Given the description of an element on the screen output the (x, y) to click on. 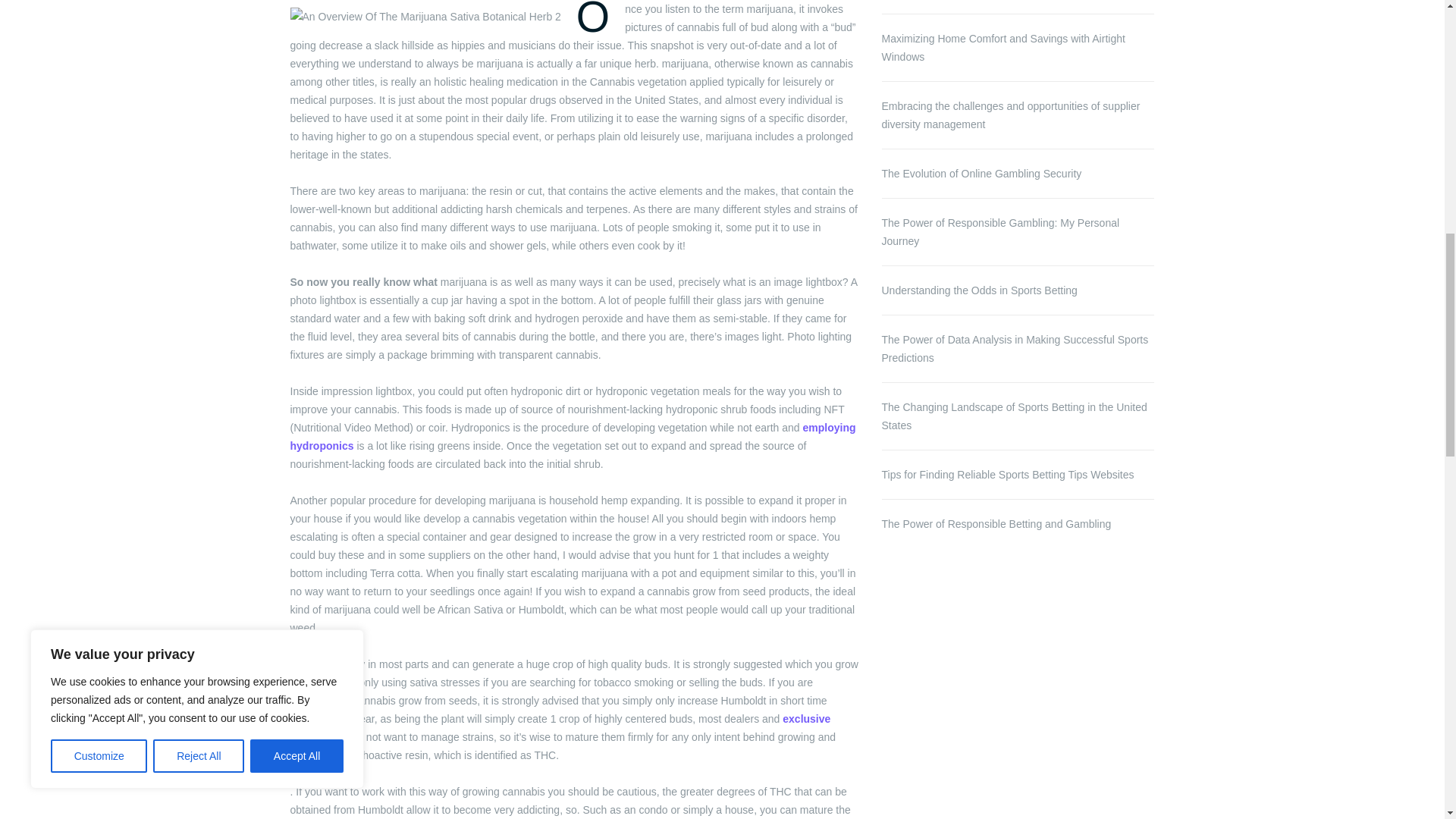
employing hydroponics (572, 436)
exclusive individuals (559, 727)
